Given the description of an element on the screen output the (x, y) to click on. 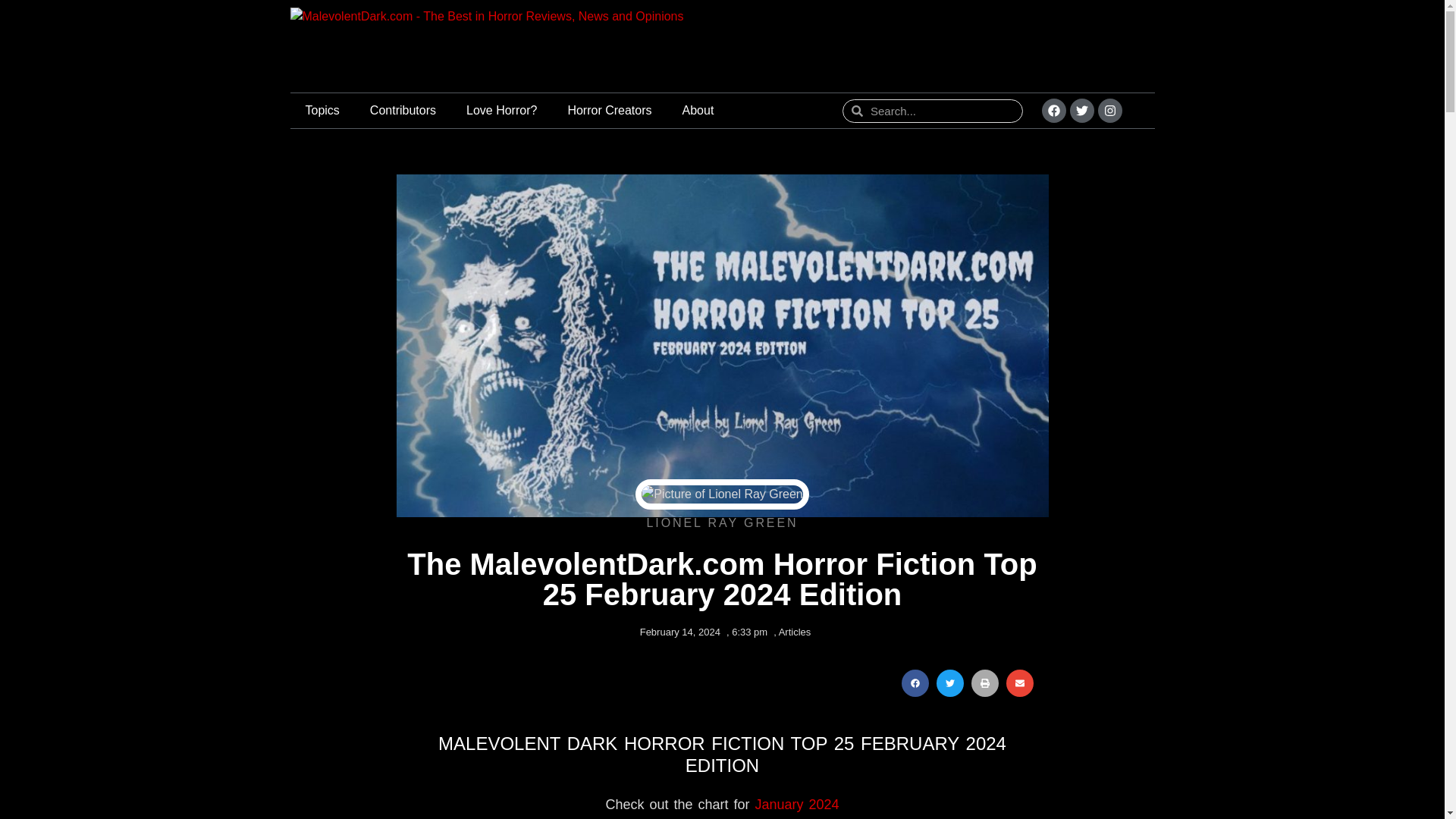
Horror Creators (608, 110)
January 2024 (797, 804)
Love Horror? (501, 110)
February 14, 2024 (676, 631)
About (697, 110)
Contributors (403, 110)
Articles (794, 632)
Topics (321, 110)
